Given the description of an element on the screen output the (x, y) to click on. 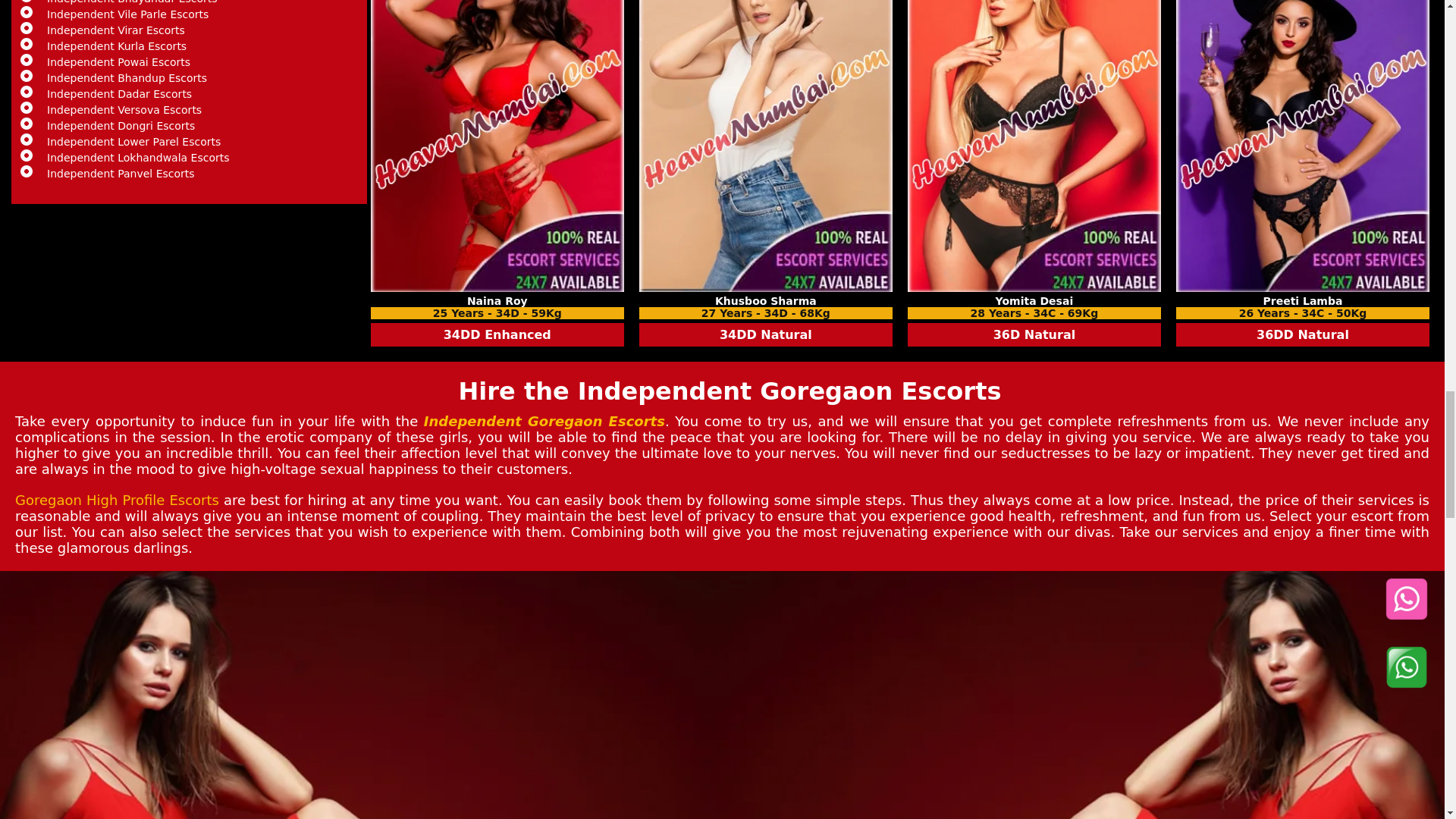
Independent Powai Escorts (192, 61)
Independent Bhayandar Escorts (192, 2)
Independent Kurla Escorts (192, 46)
Independent Virar Escorts (192, 30)
Independent Lower Parel Escorts (192, 141)
Independent Dadar Escorts (192, 93)
Independent Versova Escorts (192, 110)
Independent Bhandup Escorts (192, 78)
Independent Lokhandwala Escorts (192, 157)
Independent Vile Parle Escorts (192, 14)
